Given the description of an element on the screen output the (x, y) to click on. 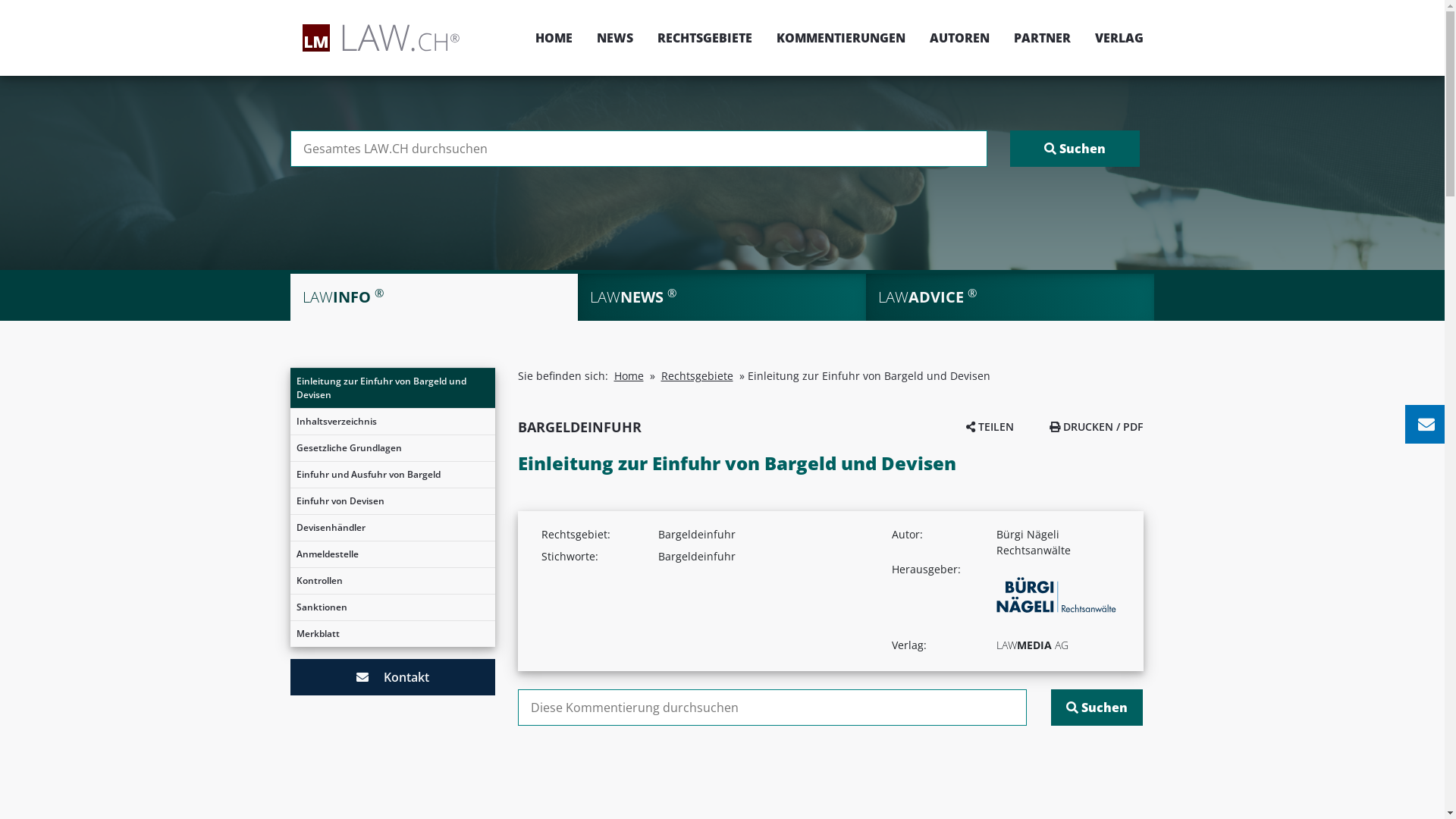
PARTNER Element type: text (1041, 37)
    Kontakt Element type: text (391, 676)
Home Element type: text (628, 375)
NEWS Element type: text (613, 37)
Einfuhr von Devisen Element type: text (391, 501)
KOMMENTIERUNGEN Element type: text (840, 37)
Inhaltsverzeichnis Element type: text (391, 421)
RECHTSGEBIETE Element type: text (703, 37)
Suchen nach: Element type: hover (771, 707)
HOME Element type: text (553, 37)
Kontrollen Element type: text (391, 580)
Einfuhr und Ausfuhr von Bargeld Element type: text (391, 474)
Gesetzliche Grundlagen Element type: text (391, 448)
 DRUCKEN / PDF Element type: text (1095, 426)
Suchen nach: Element type: hover (637, 148)
Anmeldestelle Element type: text (391, 554)
Merkblatt Element type: text (391, 633)
Rechtsgebiete Element type: text (697, 375)
Einleitung zur Einfuhr von Bargeld und Devisen Element type: text (391, 387)
VERLAG Element type: text (1112, 37)
 TEILEN Element type: text (989, 426)
Sanktionen Element type: text (391, 607)
AUTOREN Element type: text (959, 37)
